Given the description of an element on the screen output the (x, y) to click on. 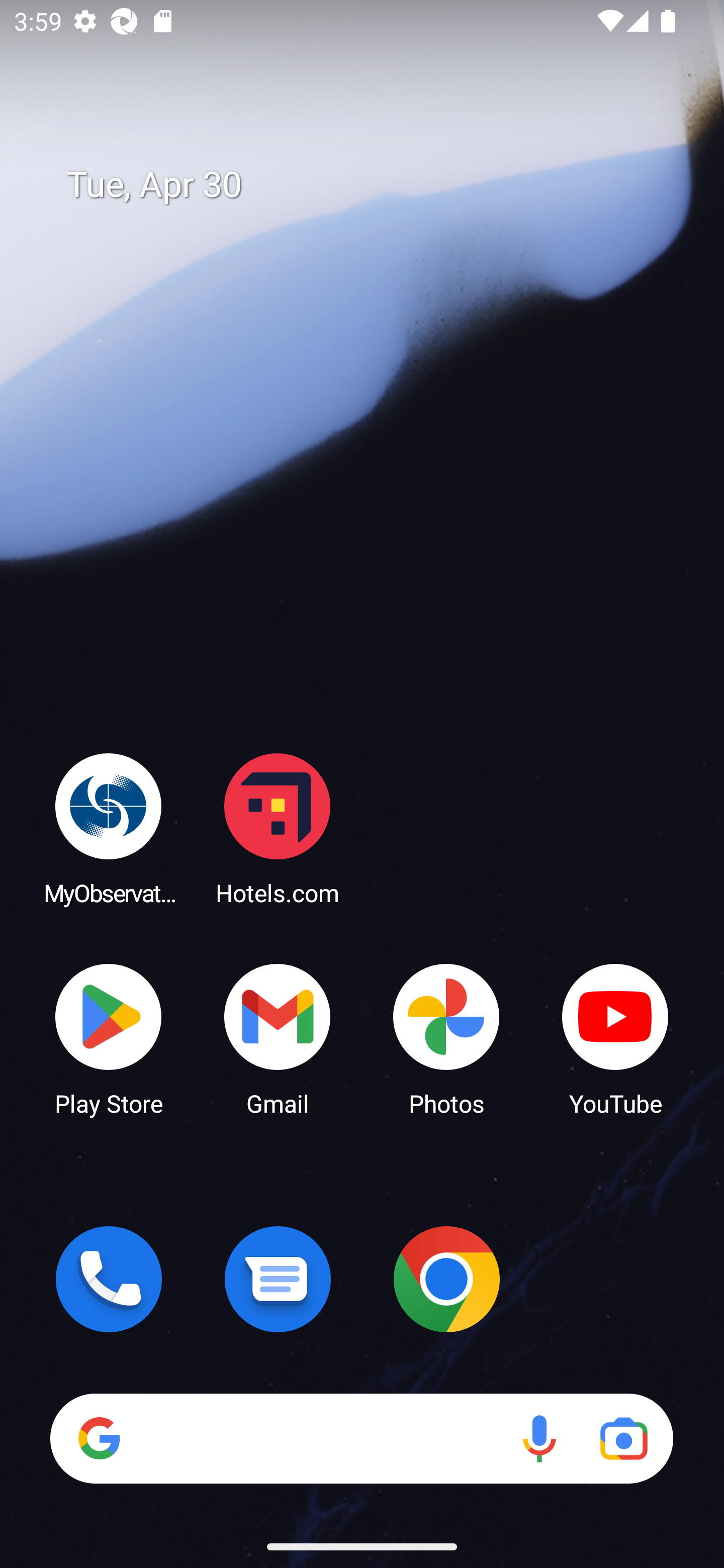
Tue, Apr 30 (375, 184)
MyObservatory (108, 828)
Hotels.com (277, 828)
Play Store (108, 1038)
Gmail (277, 1038)
Photos (445, 1038)
YouTube (615, 1038)
Phone (108, 1279)
Messages (277, 1279)
Chrome (446, 1279)
Voice search (539, 1438)
Google Lens (623, 1438)
